Given the description of an element on the screen output the (x, y) to click on. 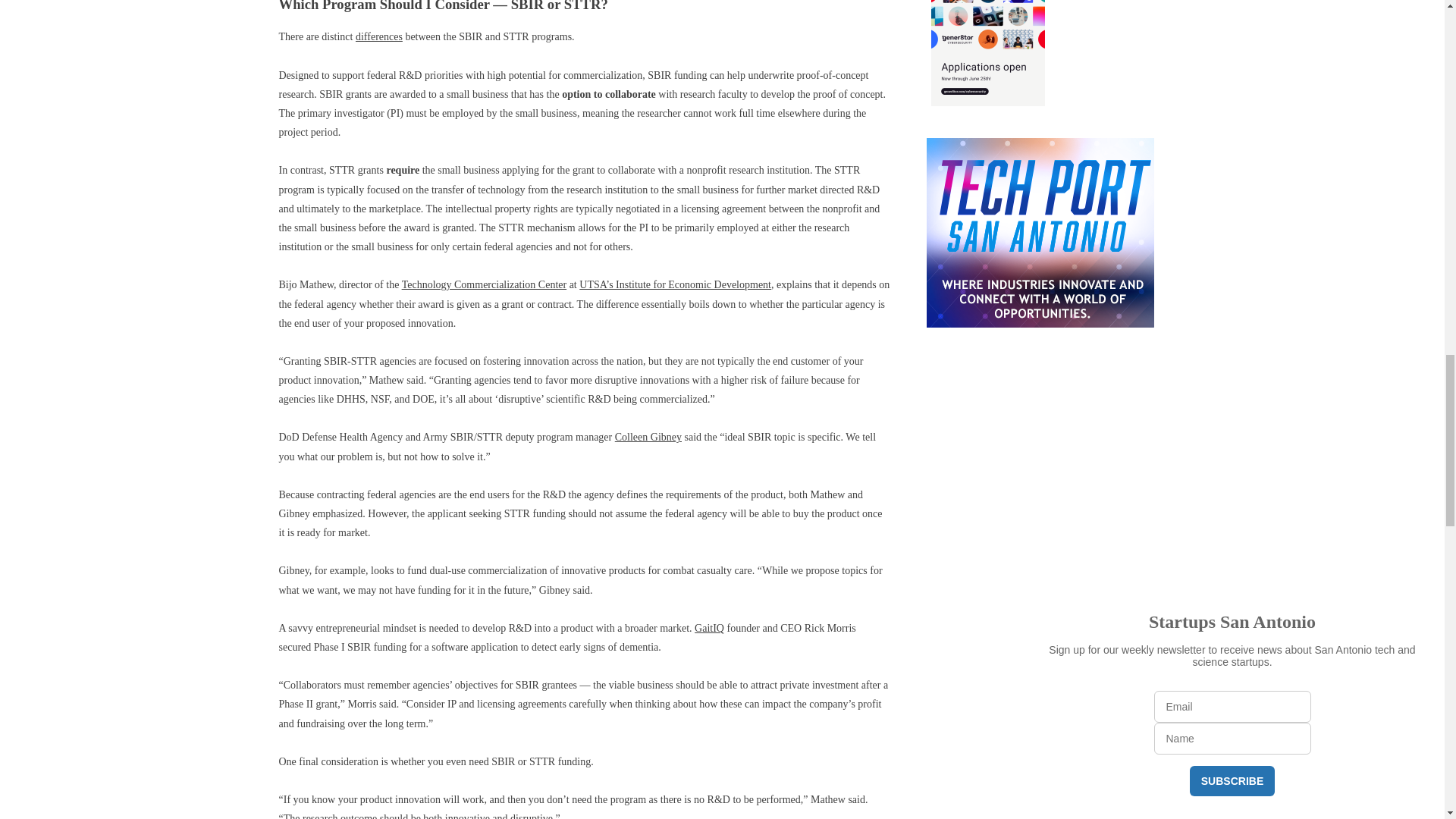
differences (379, 36)
Colleen Gibney (647, 437)
GaitIQ (708, 627)
Technology Commercialization Center (484, 284)
